Given the description of an element on the screen output the (x, y) to click on. 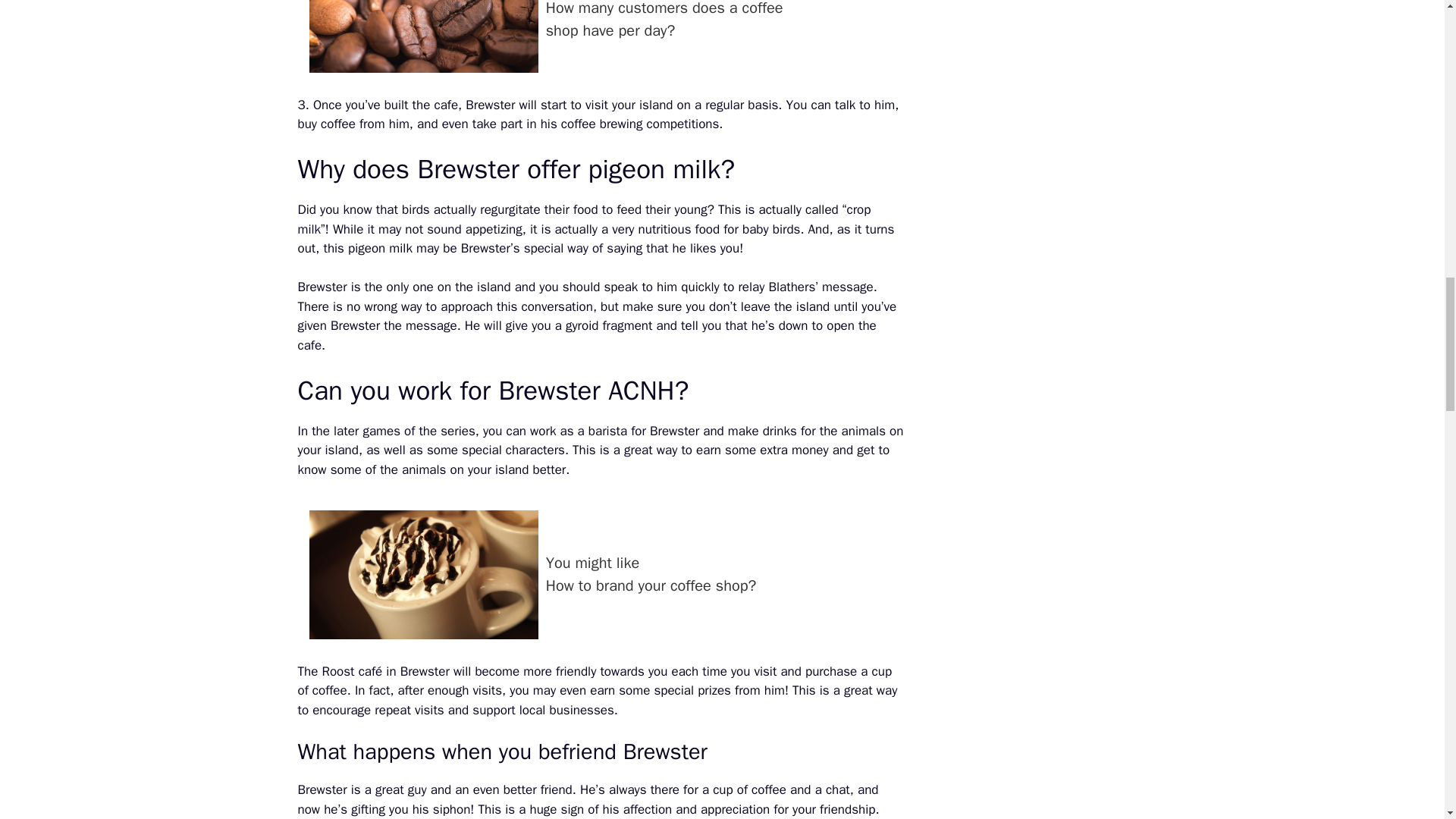
Can you get the coffee shop in new horizons? (600, 574)
Can you get the coffee shop in new horizons? (423, 574)
